Given the description of an element on the screen output the (x, y) to click on. 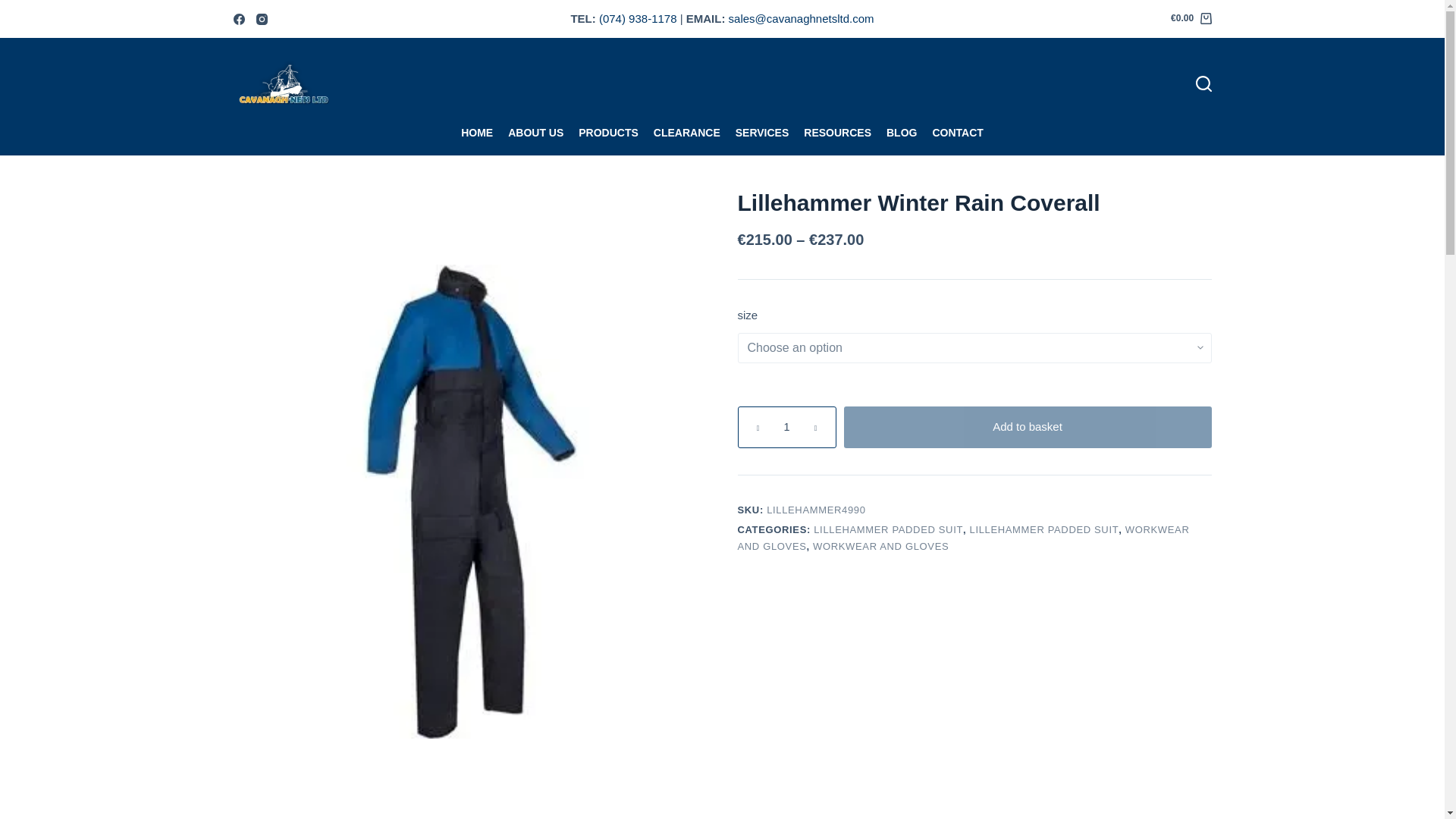
Skip to content (15, 7)
1 (785, 426)
